Given the description of an element on the screen output the (x, y) to click on. 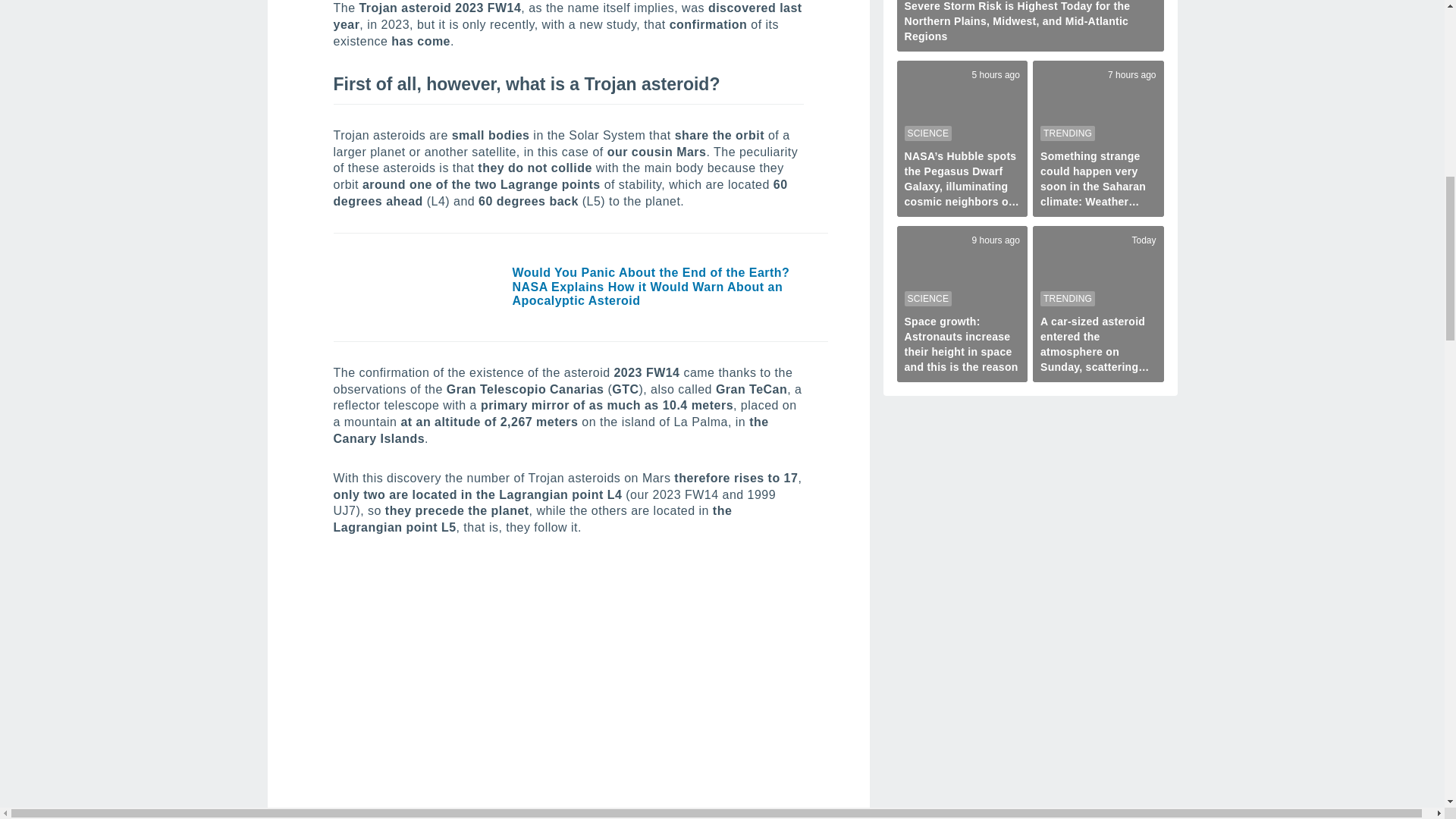
Mars asteroid (568, 688)
